Given the description of an element on the screen output the (x, y) to click on. 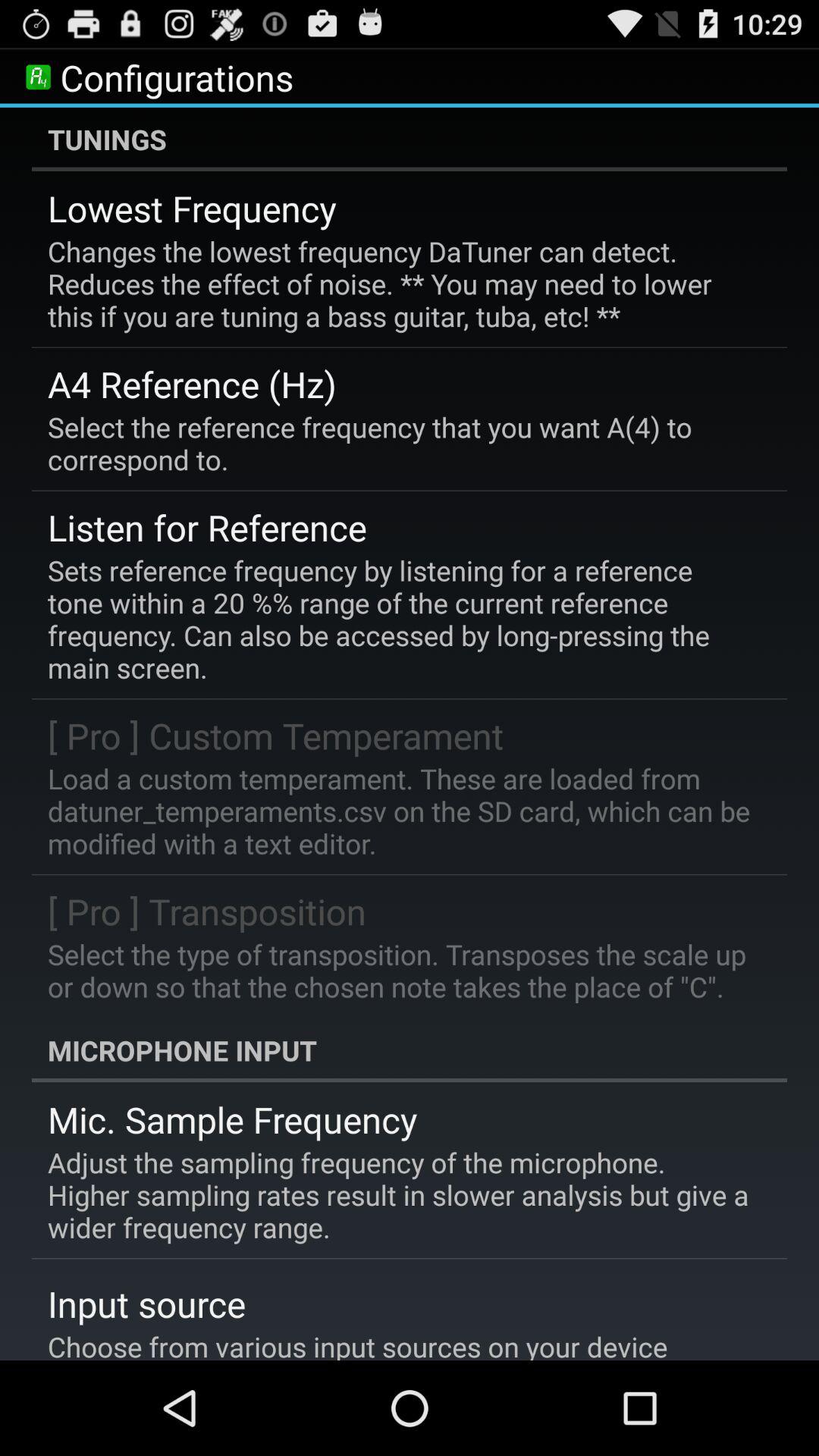
open app below the changes the lowest item (191, 384)
